Given the description of an element on the screen output the (x, y) to click on. 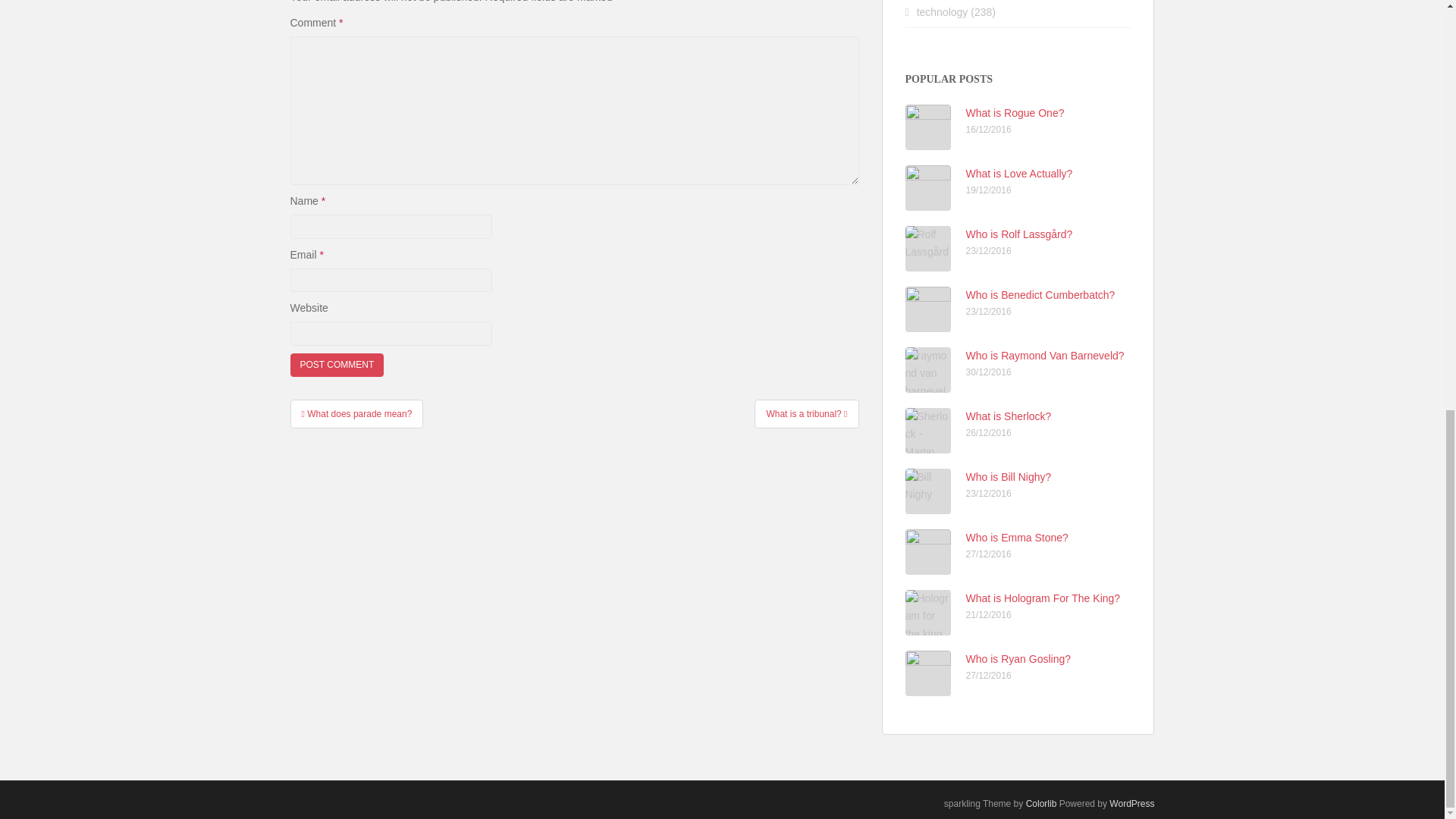
technology (942, 11)
What is a tribunal? (806, 413)
Who is Benedict Cumberbatch? (1040, 295)
Who is Raymond Van Barneveld? (1045, 355)
Post Comment (336, 364)
Post Comment (336, 364)
What is Love Actually? (1019, 173)
What does parade mean? (356, 413)
What is Rogue One? (1015, 112)
